Given the description of an element on the screen output the (x, y) to click on. 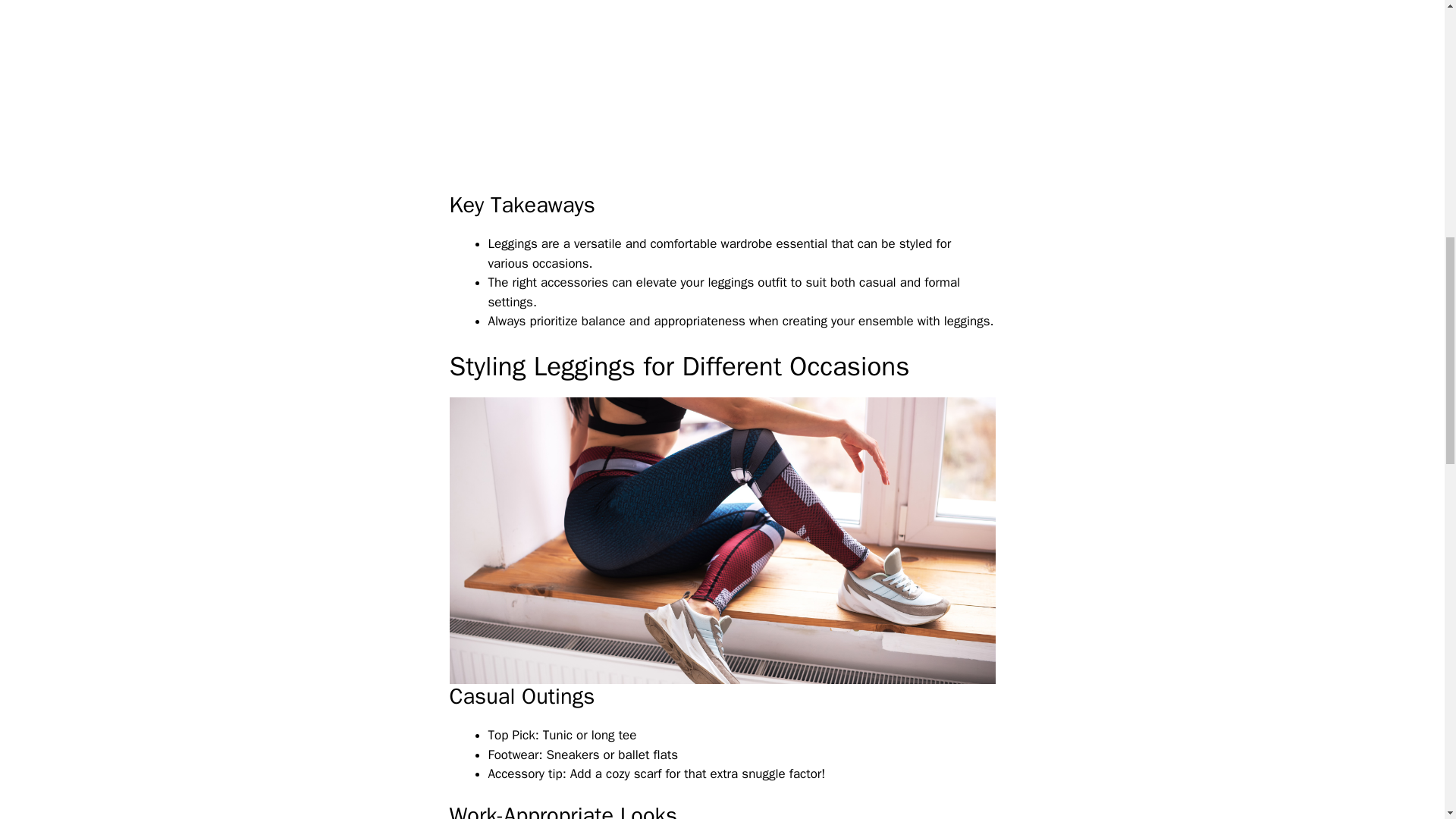
Scroll back to top (1406, 720)
Advertisement (736, 93)
